Given the description of an element on the screen output the (x, y) to click on. 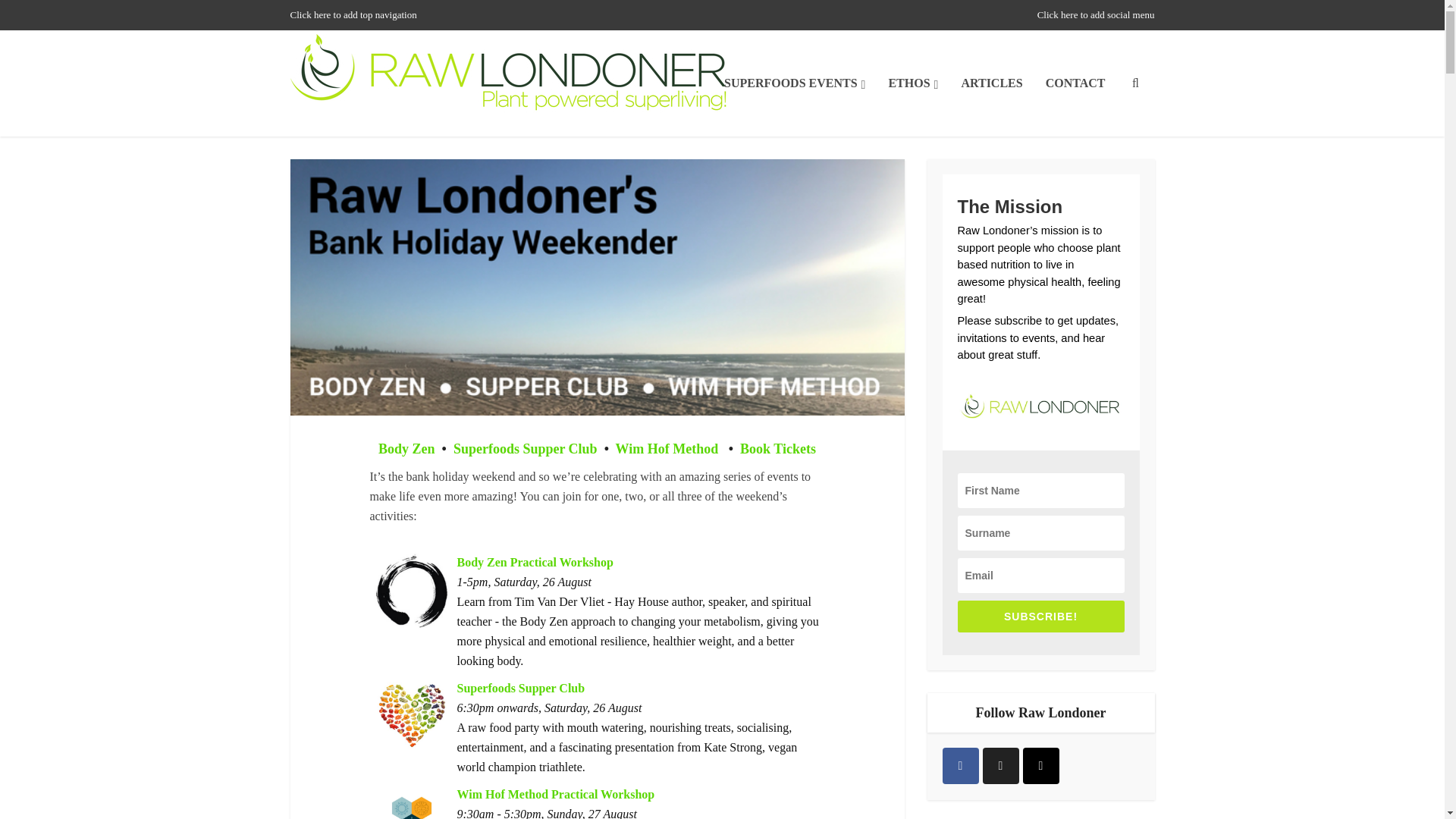
Click here to add top navigation (352, 14)
Wim Hof Method (667, 448)
Click here to add social menu (1095, 14)
Book Tickets (777, 448)
Body Zen (406, 448)
Body Zen Practical Workshop (534, 561)
Wim Hof Method Practical Workshop (555, 793)
Facebook (960, 765)
Superfoods Supper Club (521, 686)
Raw Londoner (507, 77)
